Given the description of an element on the screen output the (x, y) to click on. 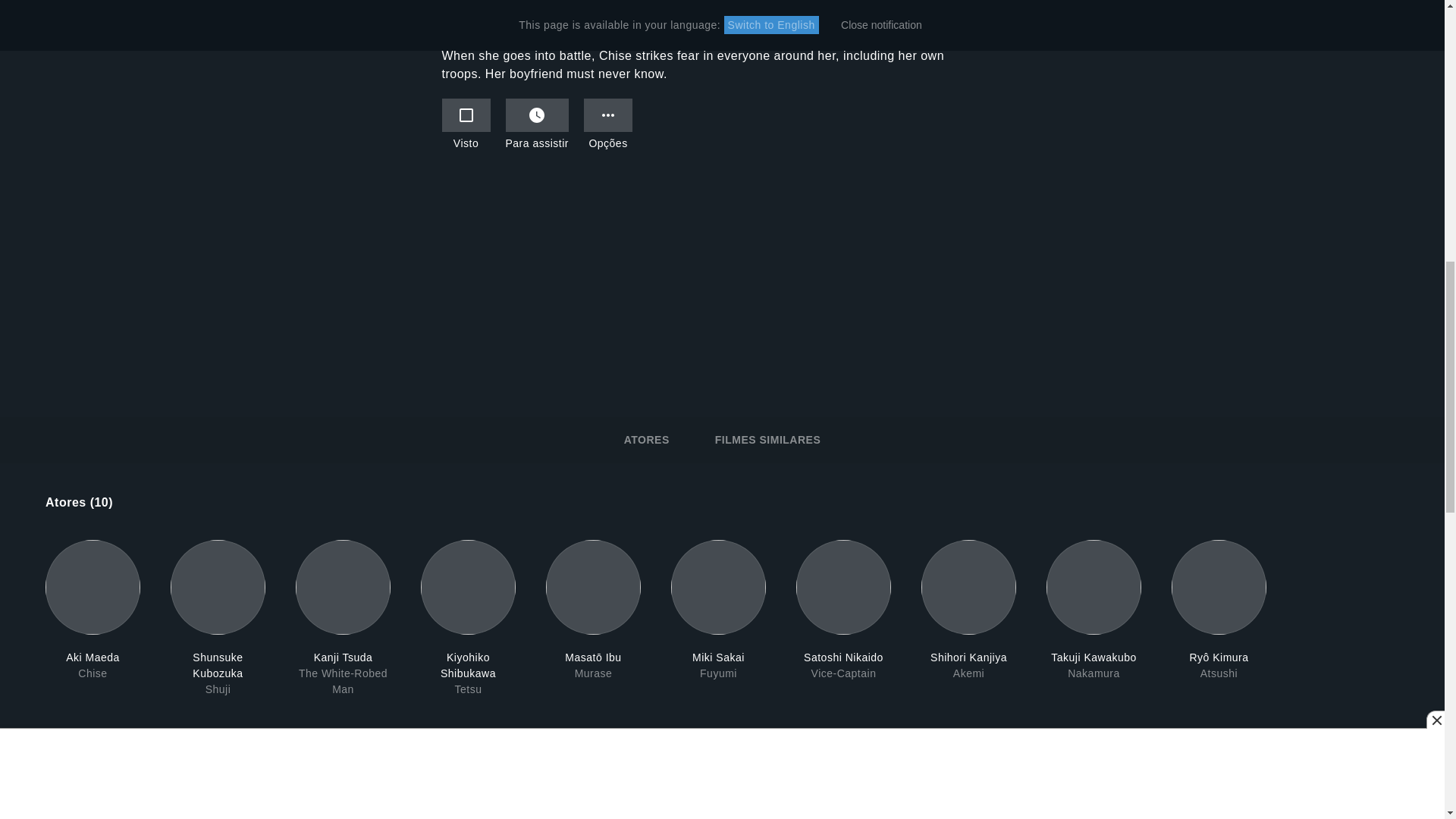
3rd party ad content (721, 288)
FILMES SIMILARES (767, 439)
ATORES (646, 439)
